Given the description of an element on the screen output the (x, y) to click on. 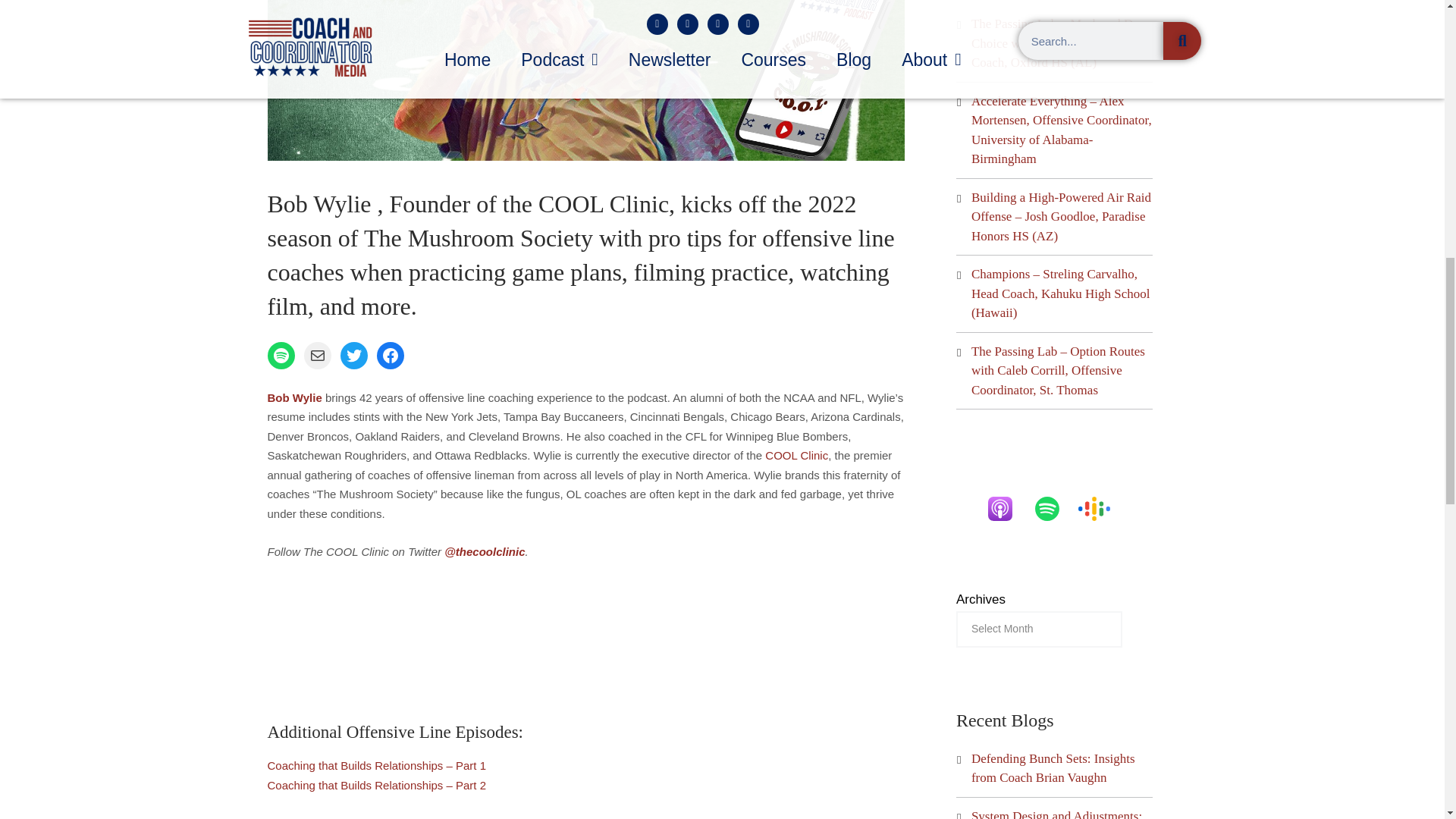
Spotify (1054, 508)
Apple-Podcasts (1007, 508)
Google-Podcasts (1101, 508)
